Given the description of an element on the screen output the (x, y) to click on. 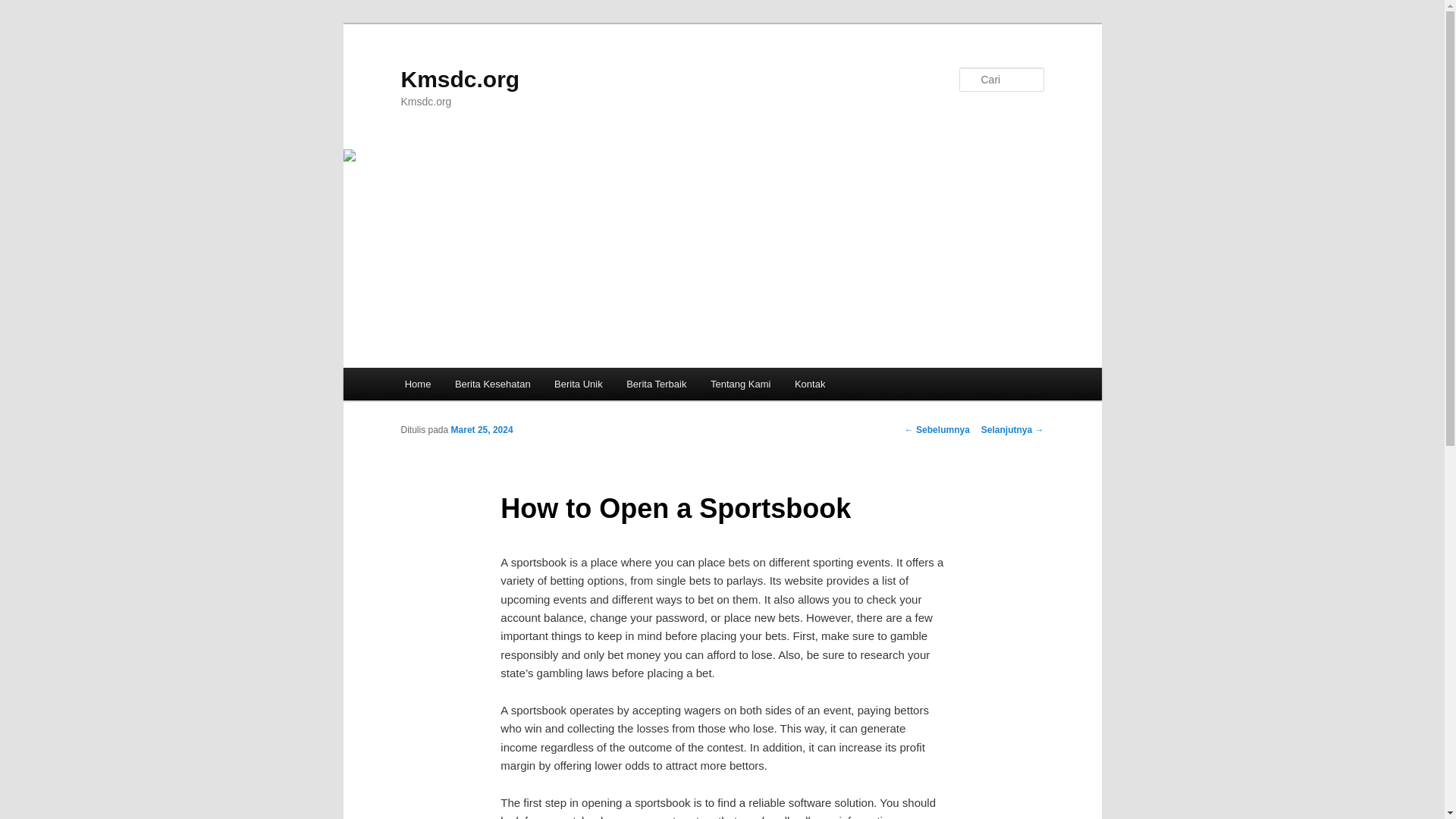
9:35 pm (482, 429)
Home (417, 383)
Maret 25, 2024 (482, 429)
Tentang Kami (740, 383)
Kmsdc.org (459, 78)
Berita Unik (577, 383)
Kontak (810, 383)
Berita Terbaik (656, 383)
Berita Kesehatan (491, 383)
